Given the description of an element on the screen output the (x, y) to click on. 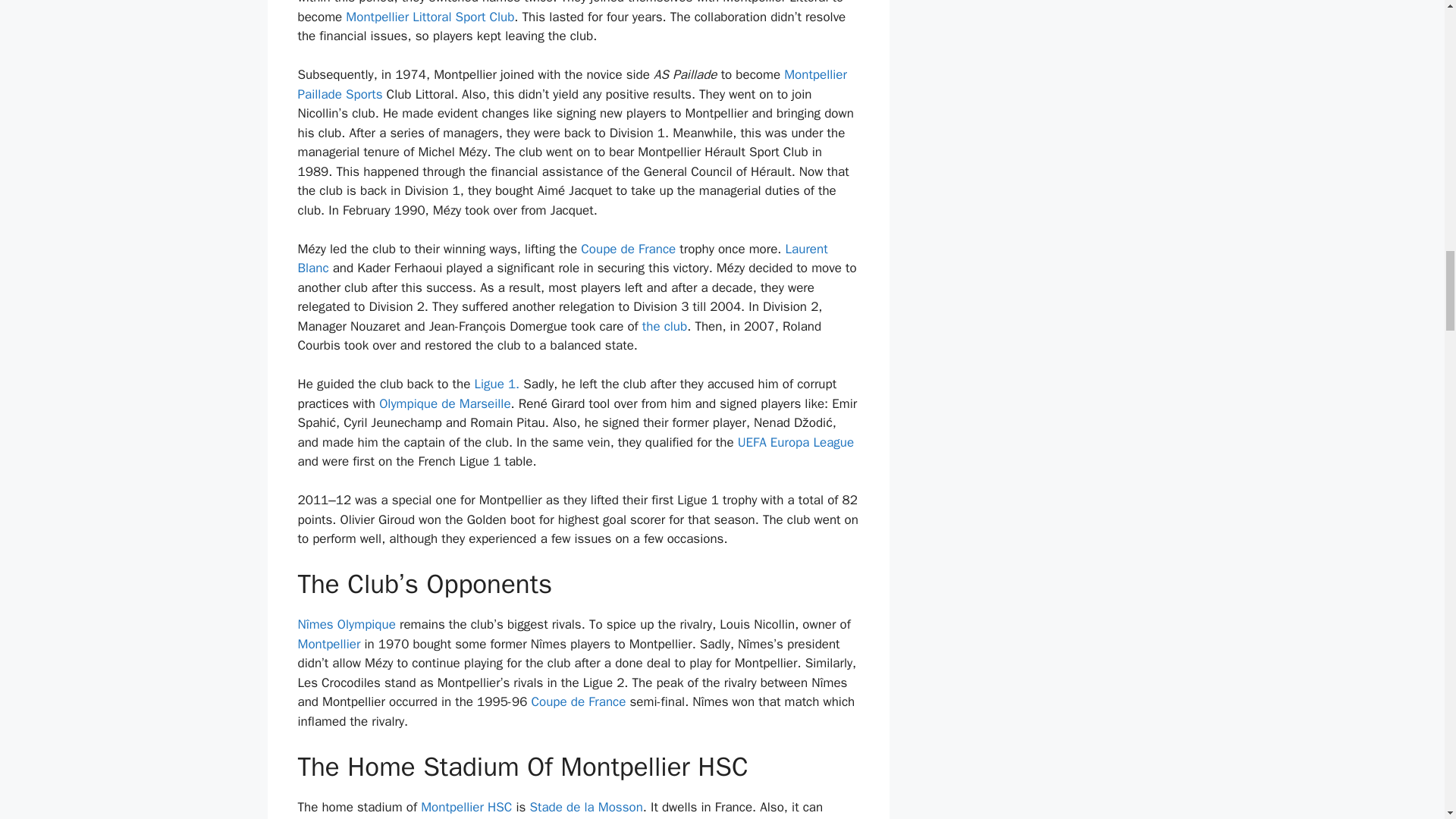
Montpellier Paillade Sports (571, 84)
Laurent Blanc (562, 258)
Ligue 1. (498, 383)
Coupe de France (627, 248)
the club (664, 326)
Montpellier Littoral Sport Club (429, 17)
